Given the description of an element on the screen output the (x, y) to click on. 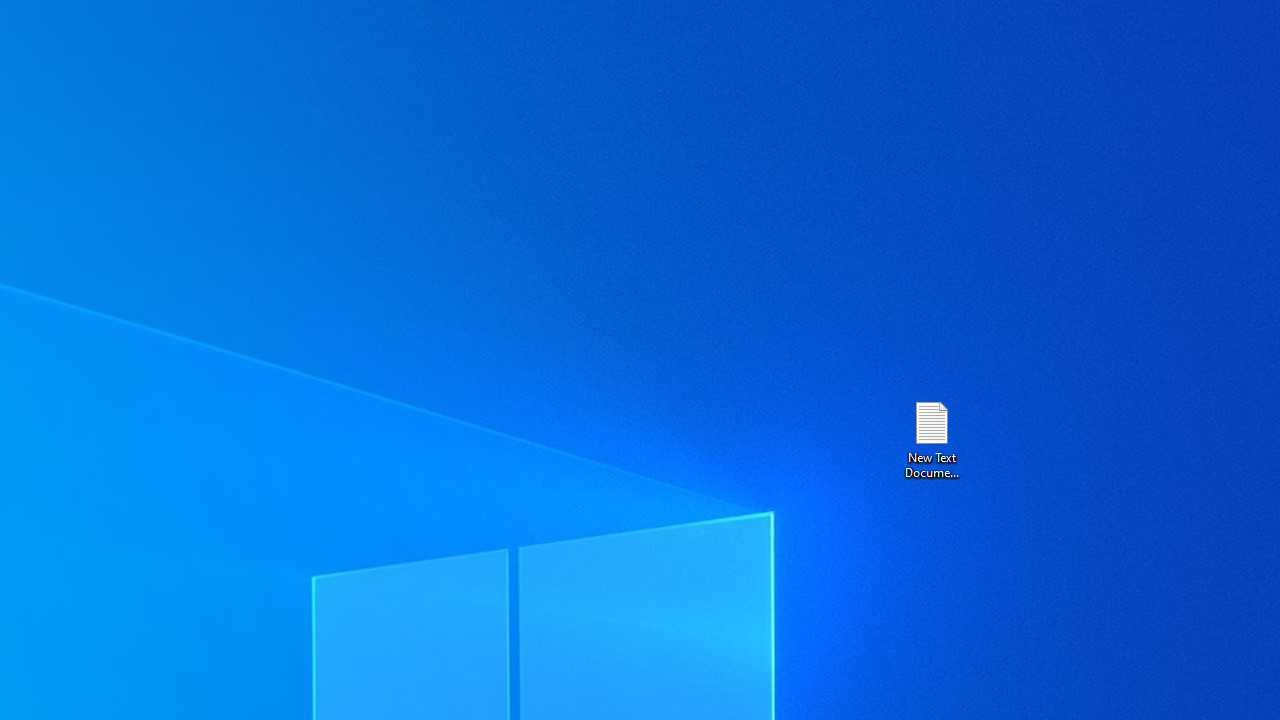
New Text Document (2) (931, 438)
